Given the description of an element on the screen output the (x, y) to click on. 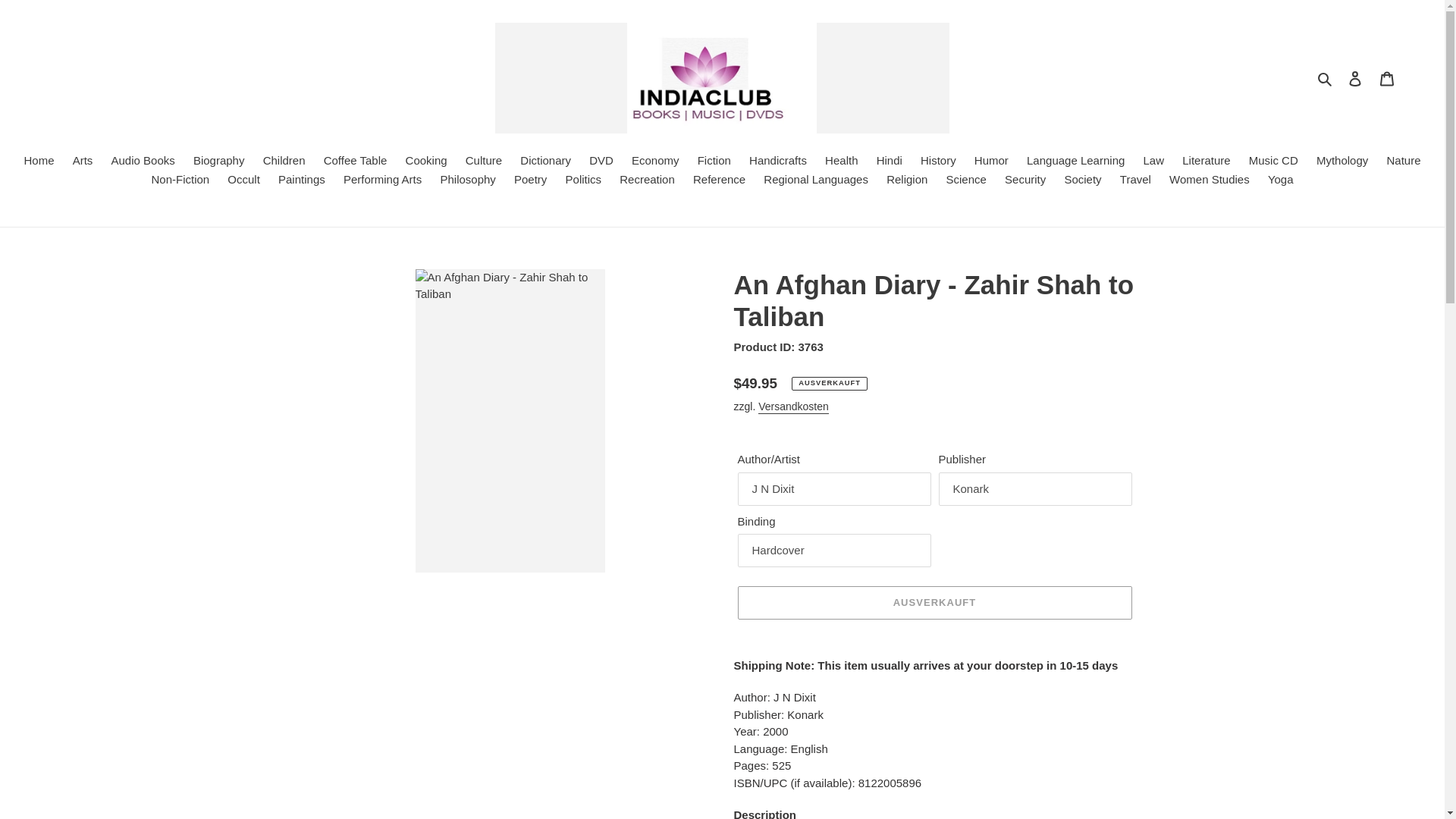
Suchen (1326, 77)
Einloggen (1355, 78)
Warenkorb (1387, 78)
